Given the description of an element on the screen output the (x, y) to click on. 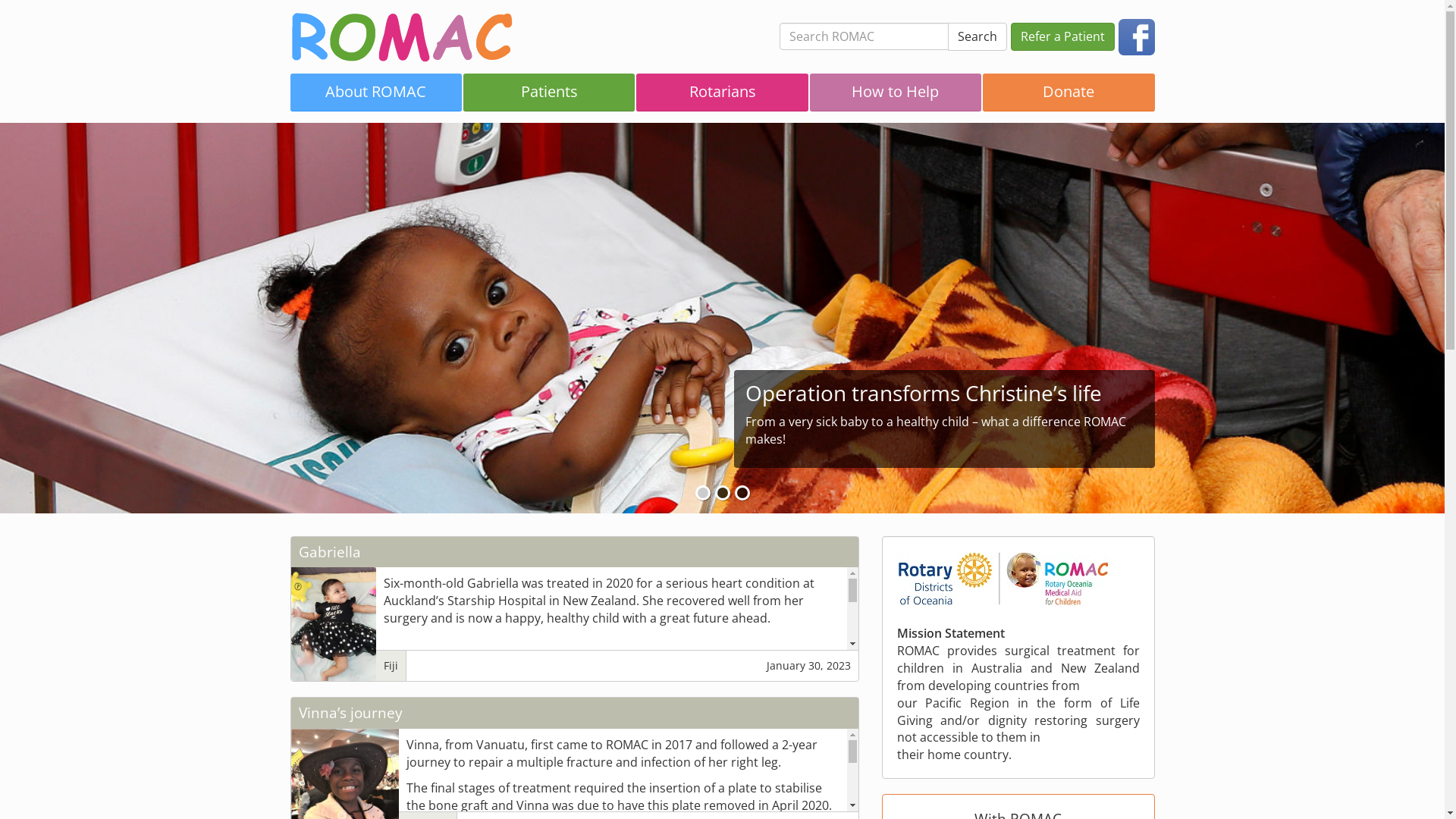
Refer a Patient Element type: text (1061, 36)
Search Element type: text (977, 36)
How to Help Element type: text (895, 91)
About ROMAC Element type: text (375, 91)
Patients Element type: text (548, 91)
Donate Element type: text (1068, 91)
Rotarians Element type: text (721, 91)
